Given the description of an element on the screen output the (x, y) to click on. 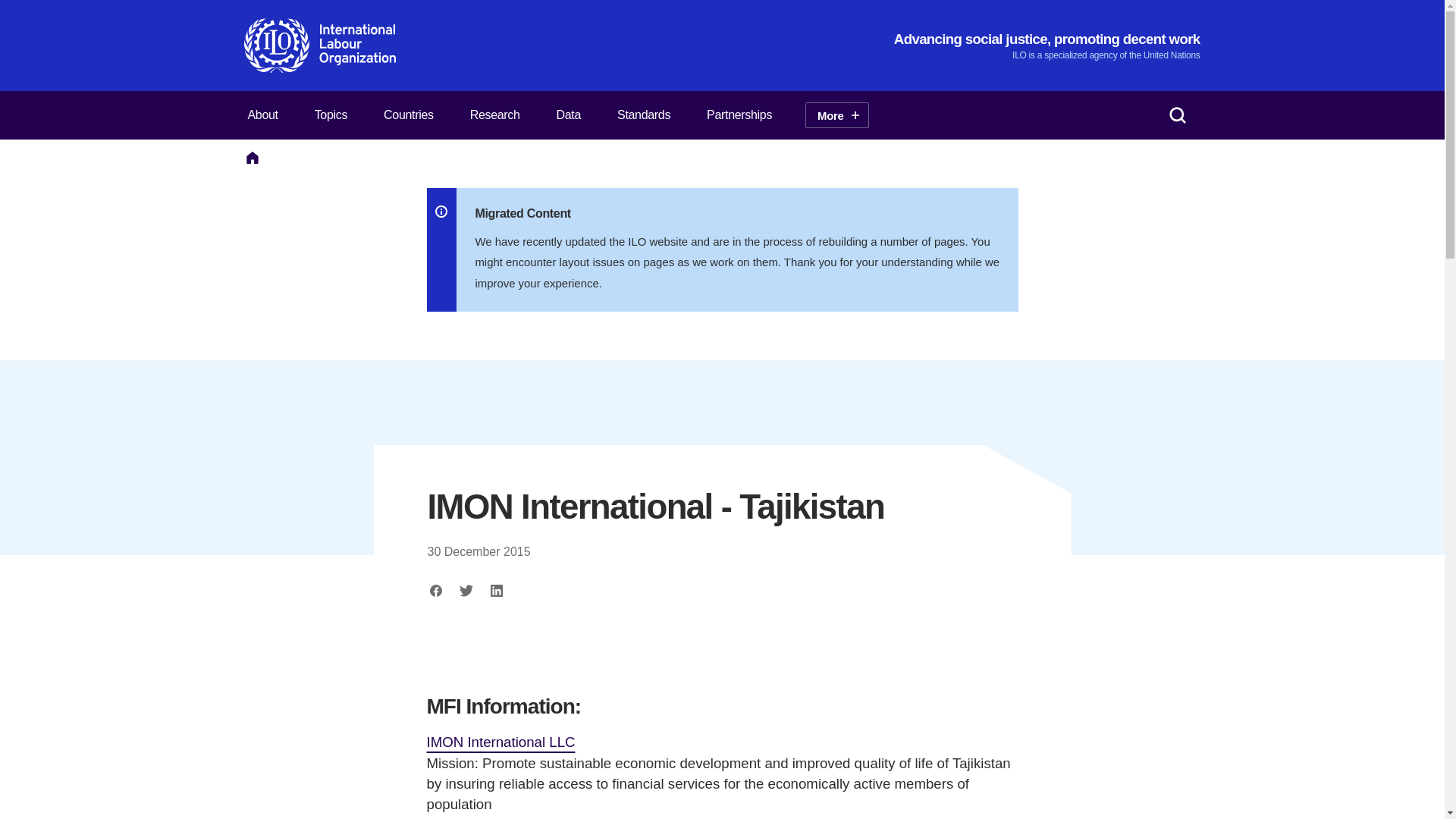
Topics (331, 114)
Facebook (436, 590)
Twitter (466, 590)
IMON International LLC (500, 742)
Countries (408, 114)
Search (1176, 114)
Standards (643, 114)
Twitter (466, 590)
Facebook (436, 590)
Linkedin (496, 590)
